Given the description of an element on the screen output the (x, y) to click on. 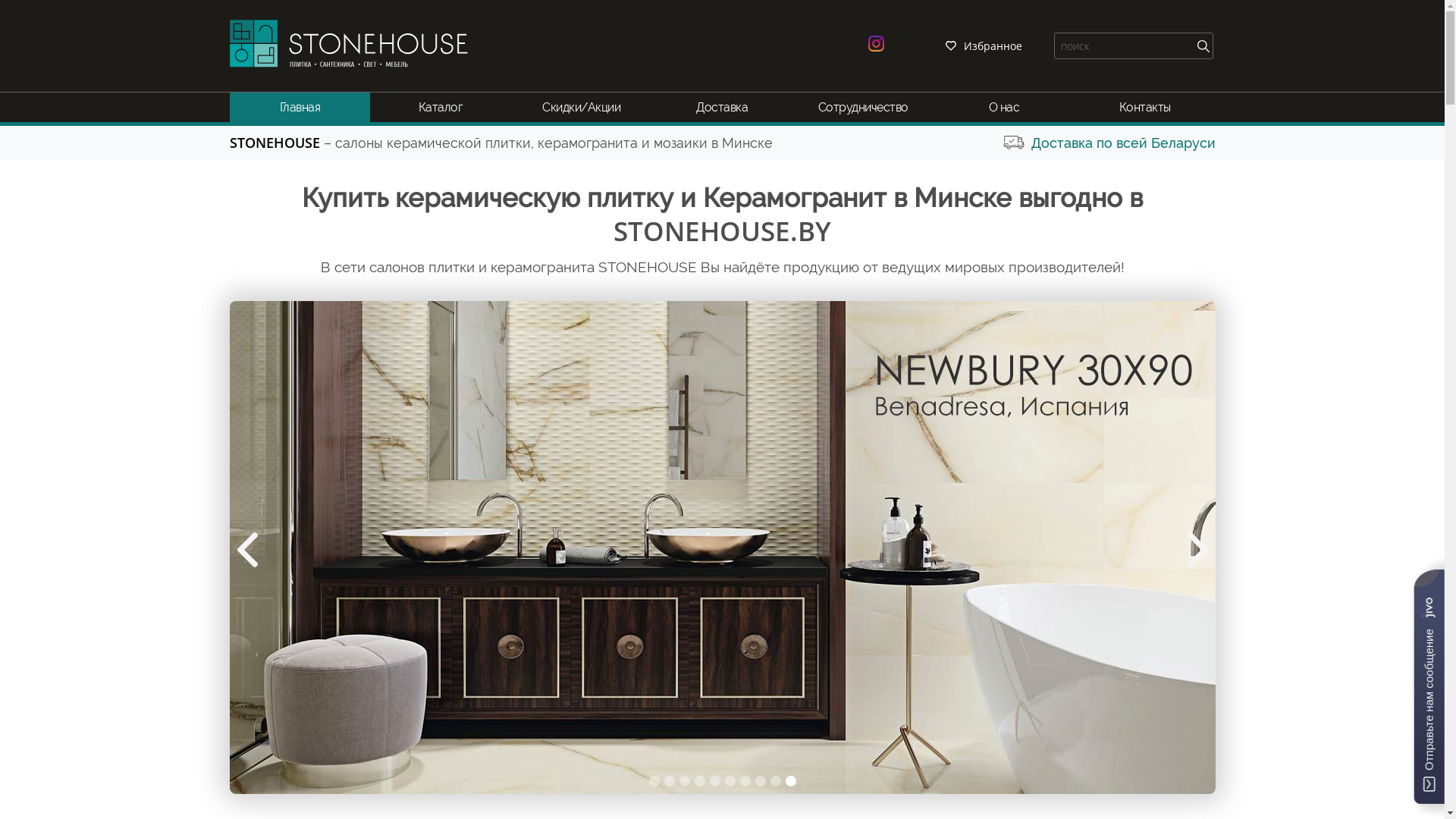
Previous Element type: text (251, 551)
4 Element type: text (699, 780)
2 Element type: text (669, 780)
8 Element type: text (760, 780)
1 Element type: text (654, 780)
3 Element type: text (684, 780)
5 Element type: text (714, 780)
  Element type: text (1203, 45)
10 Element type: text (790, 780)
6 Element type: text (729, 780)
7 Element type: text (745, 780)
9 Element type: text (775, 780)
Next Element type: text (1191, 551)
